Given the description of an element on the screen output the (x, y) to click on. 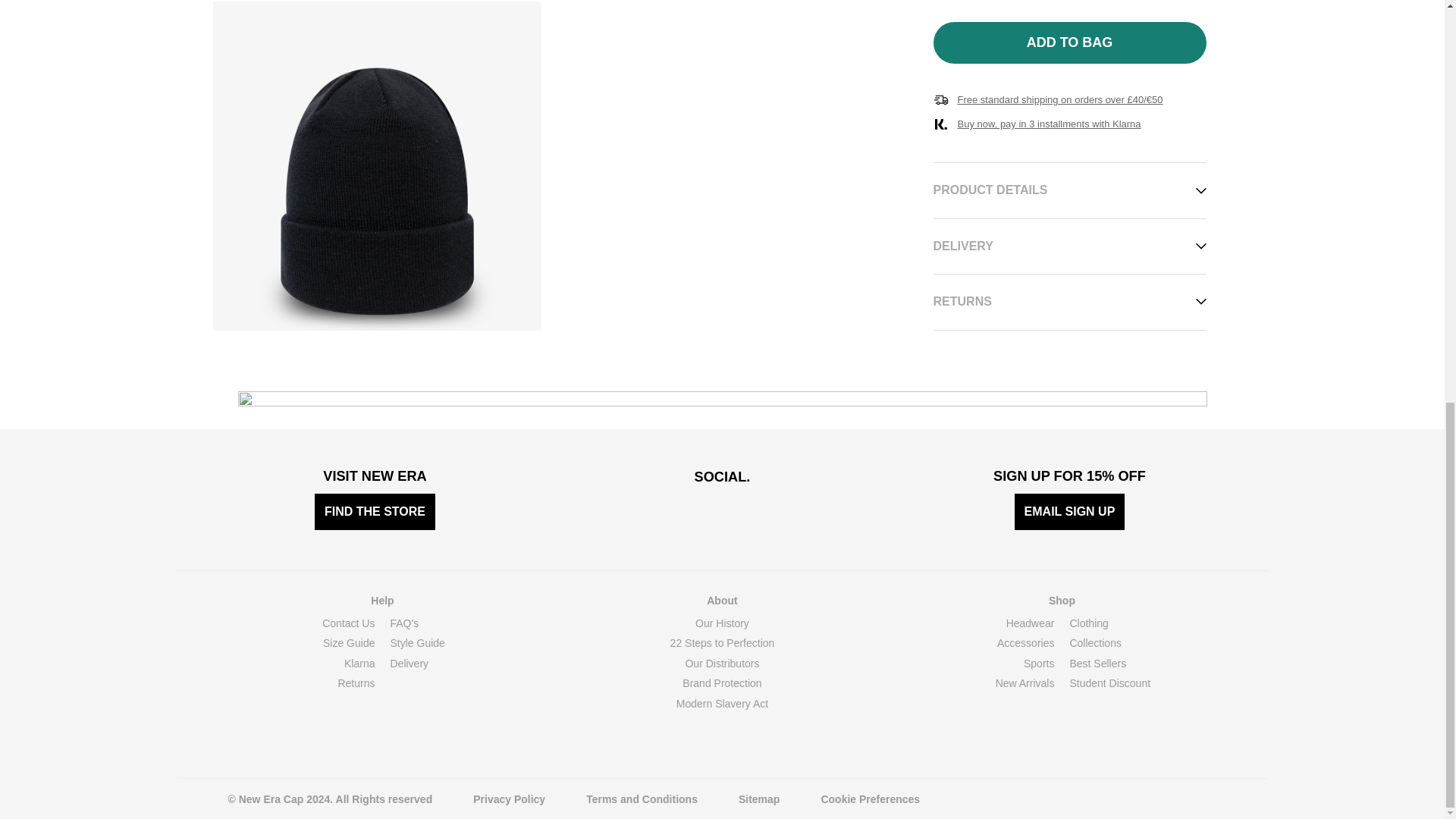
Our History (722, 623)
FAQ's (404, 623)
New Arrivals (1024, 683)
Size Guide (348, 643)
Best Sellers (1096, 663)
Klarna (358, 663)
Modern Slavery Act (722, 703)
Delivery (409, 663)
Brand Protection (721, 683)
Our Distributors (721, 663)
